Given the description of an element on the screen output the (x, y) to click on. 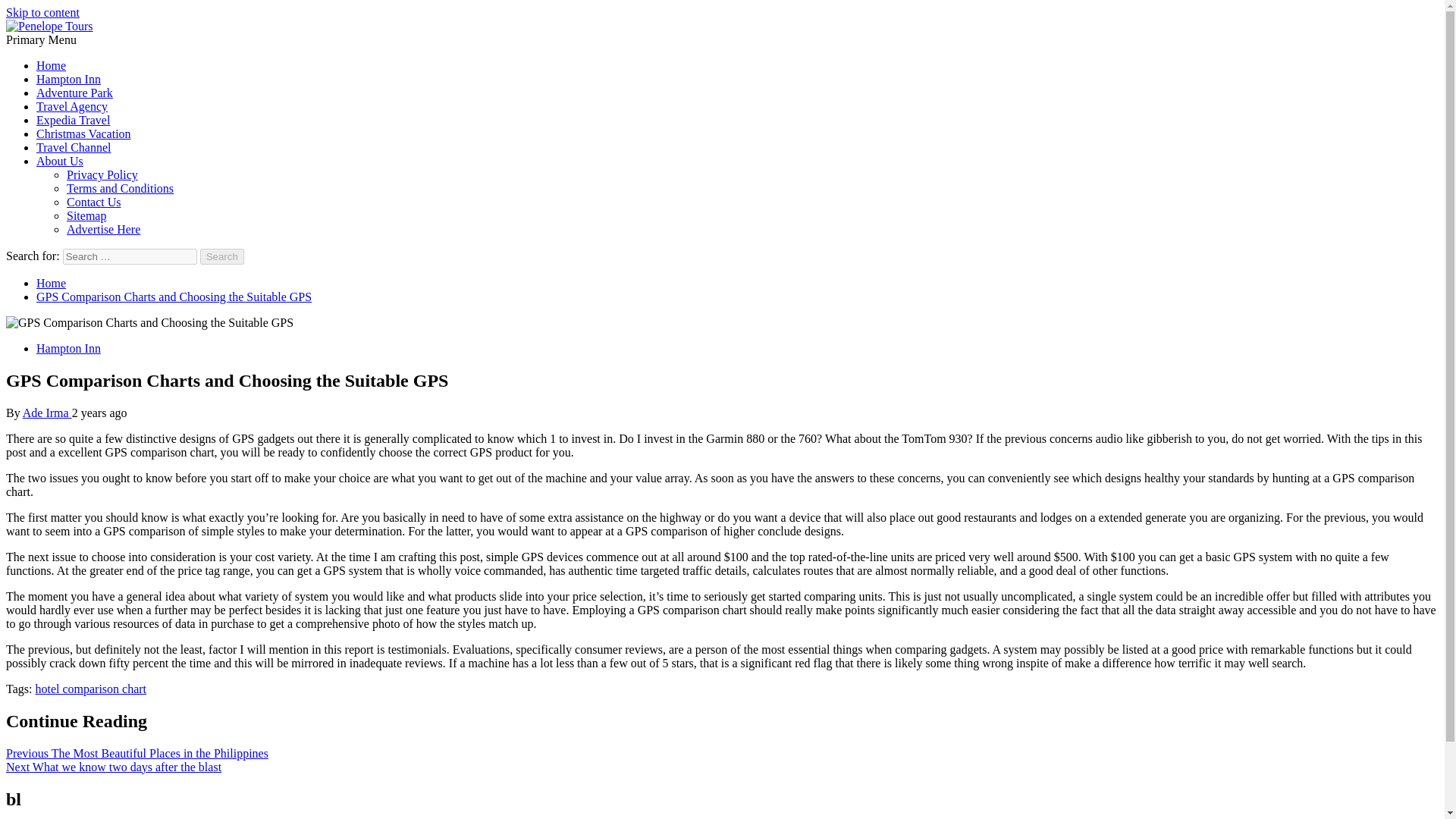
Travel Channel (74, 146)
Search (222, 256)
Travel Agency (71, 106)
Penelope Tours (43, 51)
Privacy Policy (102, 174)
GPS Comparison Charts and Choosing the Suitable GPS (173, 296)
Previous The Most Beautiful Places in the Philippines (136, 753)
Expedia Travel (73, 119)
Home (50, 65)
Adventure Park (74, 92)
Home (50, 282)
Ade Irma (47, 412)
Skip to content (42, 11)
Hampton Inn (68, 348)
GPS Comparison Charts and Choosing the Suitable GPS (149, 323)
